Given the description of an element on the screen output the (x, y) to click on. 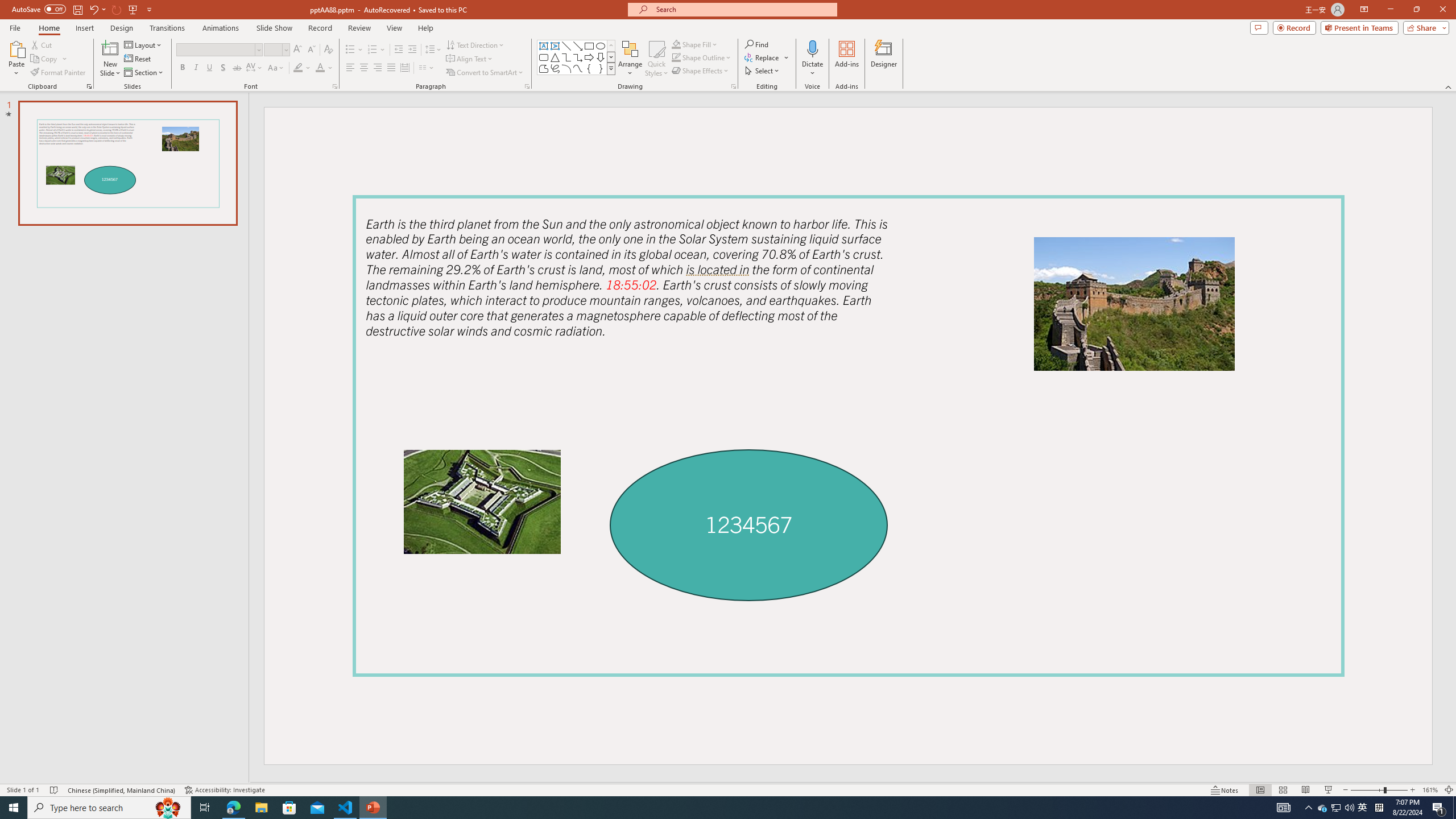
Shape Outline Teal, Accent 1 (675, 56)
